Given the description of an element on the screen output the (x, y) to click on. 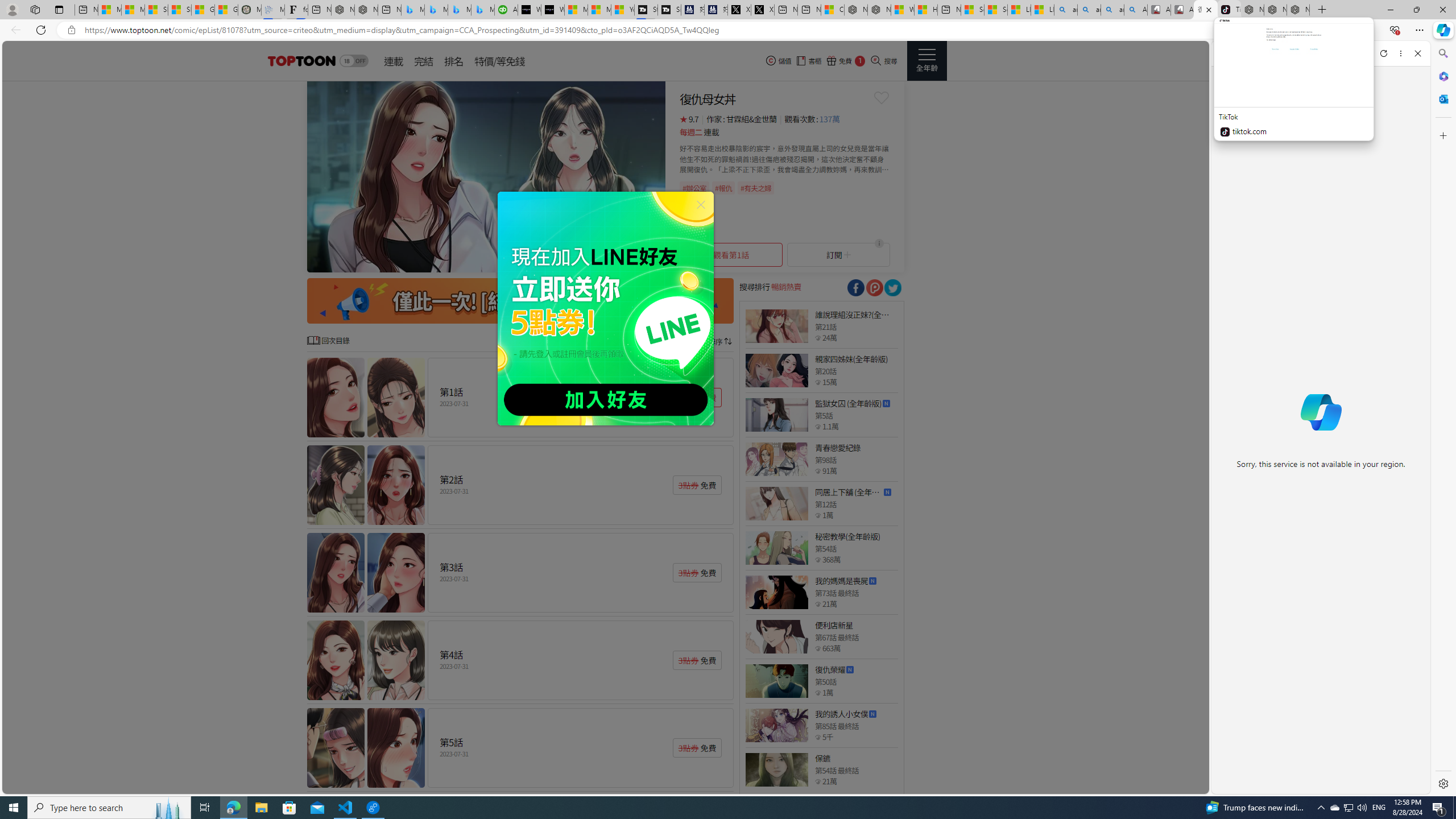
Class: thumb_img (776, 769)
Manatee Mortality Statistics | FWC (249, 9)
TikTok (1228, 9)
Side bar (1443, 418)
